Given the description of an element on the screen output the (x, y) to click on. 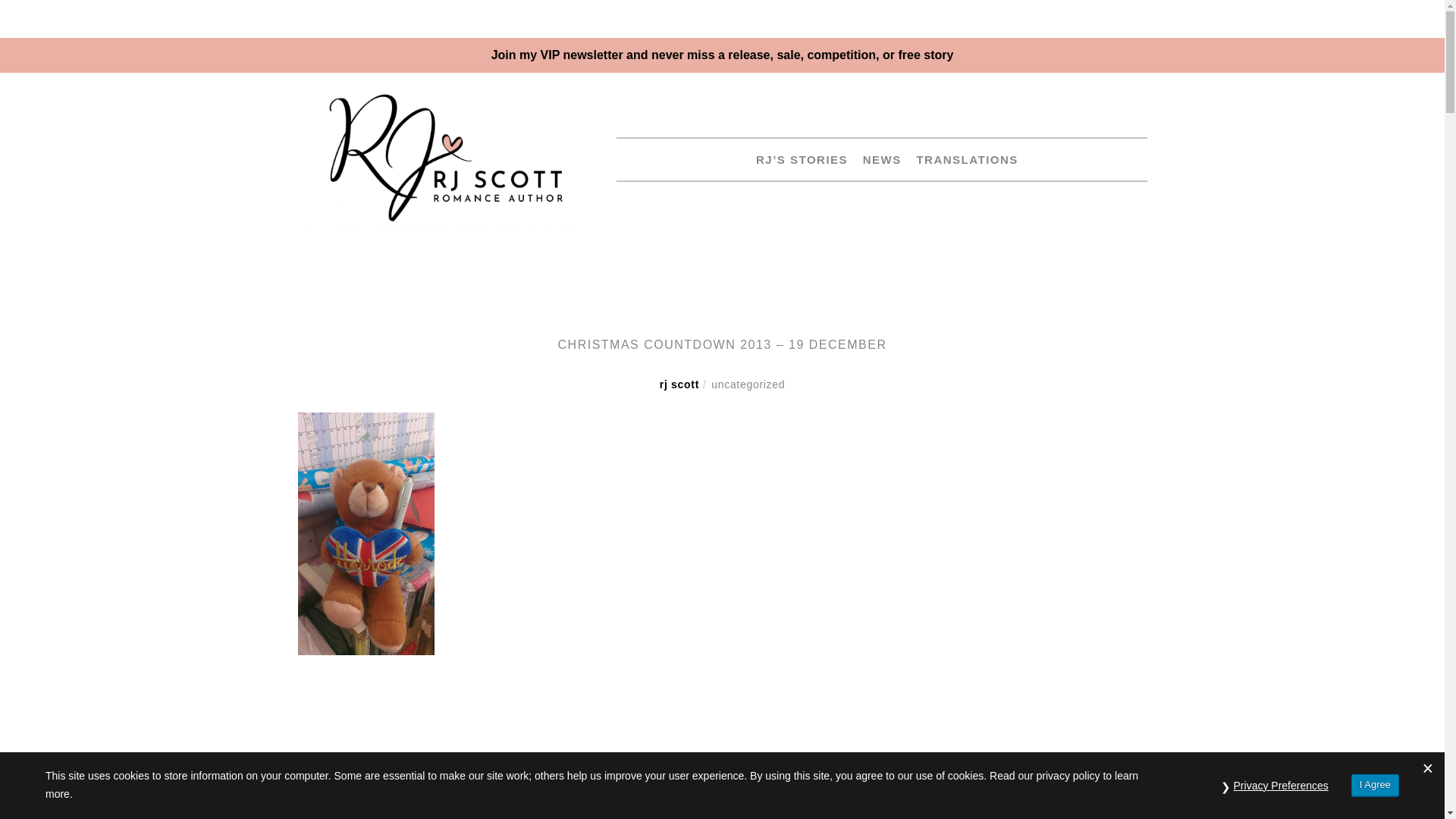
TRANSLATIONS (960, 159)
NEWS (876, 159)
uncategorized (747, 384)
